Given the description of an element on the screen output the (x, y) to click on. 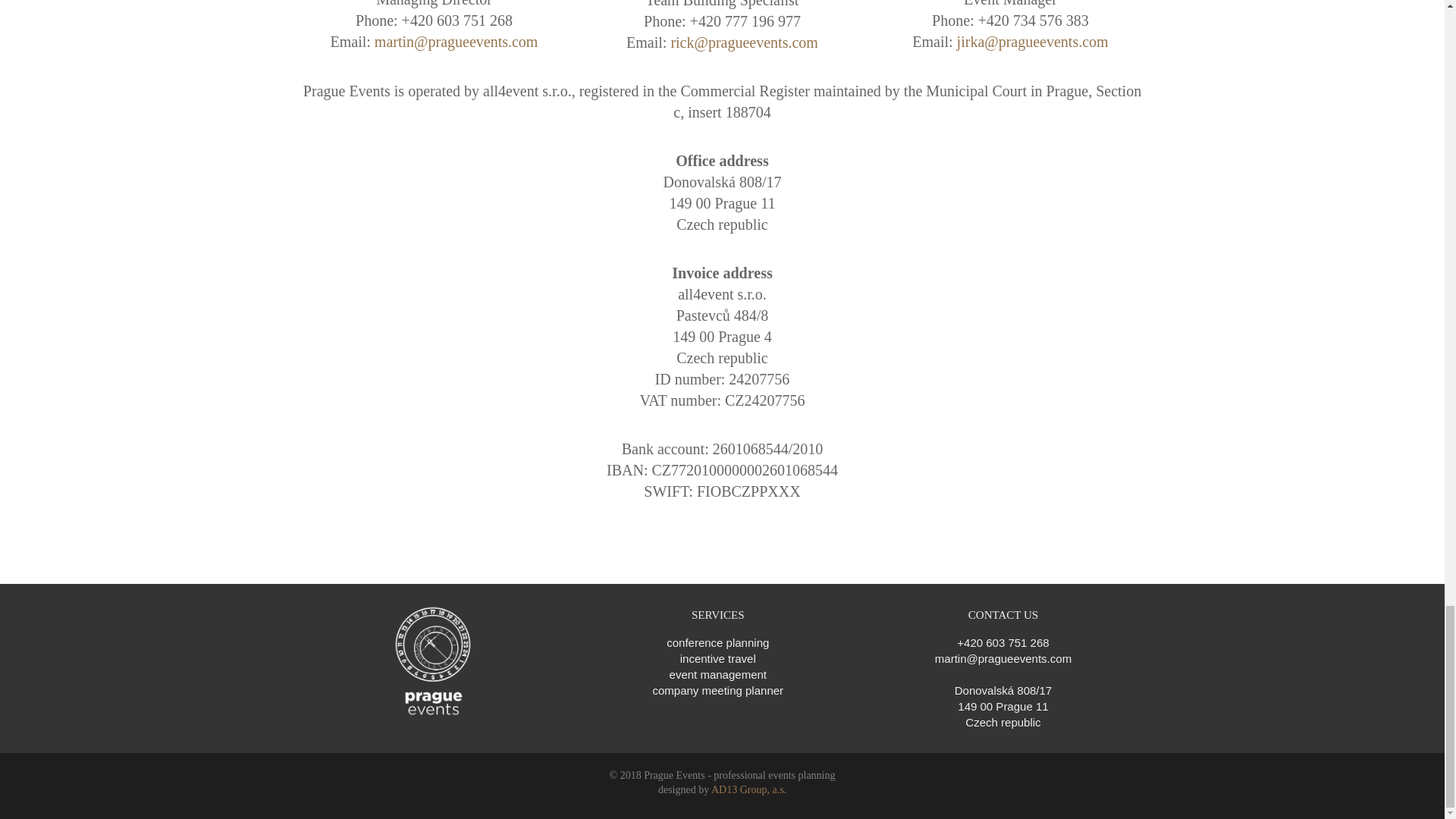
event management (718, 674)
conference planning (717, 642)
AD13 Group, a.s. (748, 789)
incentive travel (717, 658)
company meeting planner (717, 689)
